Given the description of an element on the screen output the (x, y) to click on. 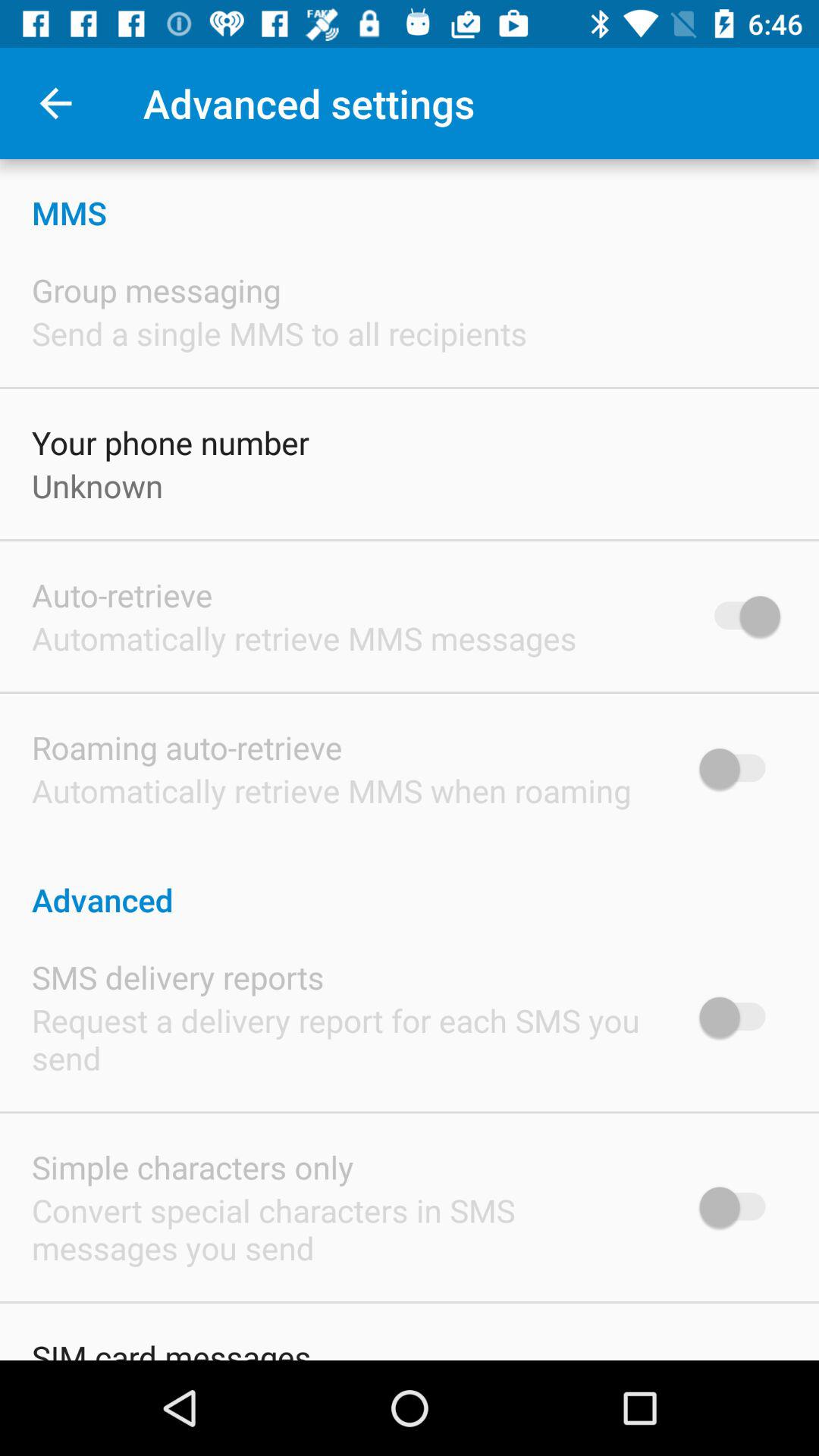
select icon below the sms delivery reports icon (345, 1038)
